Given the description of an element on the screen output the (x, y) to click on. 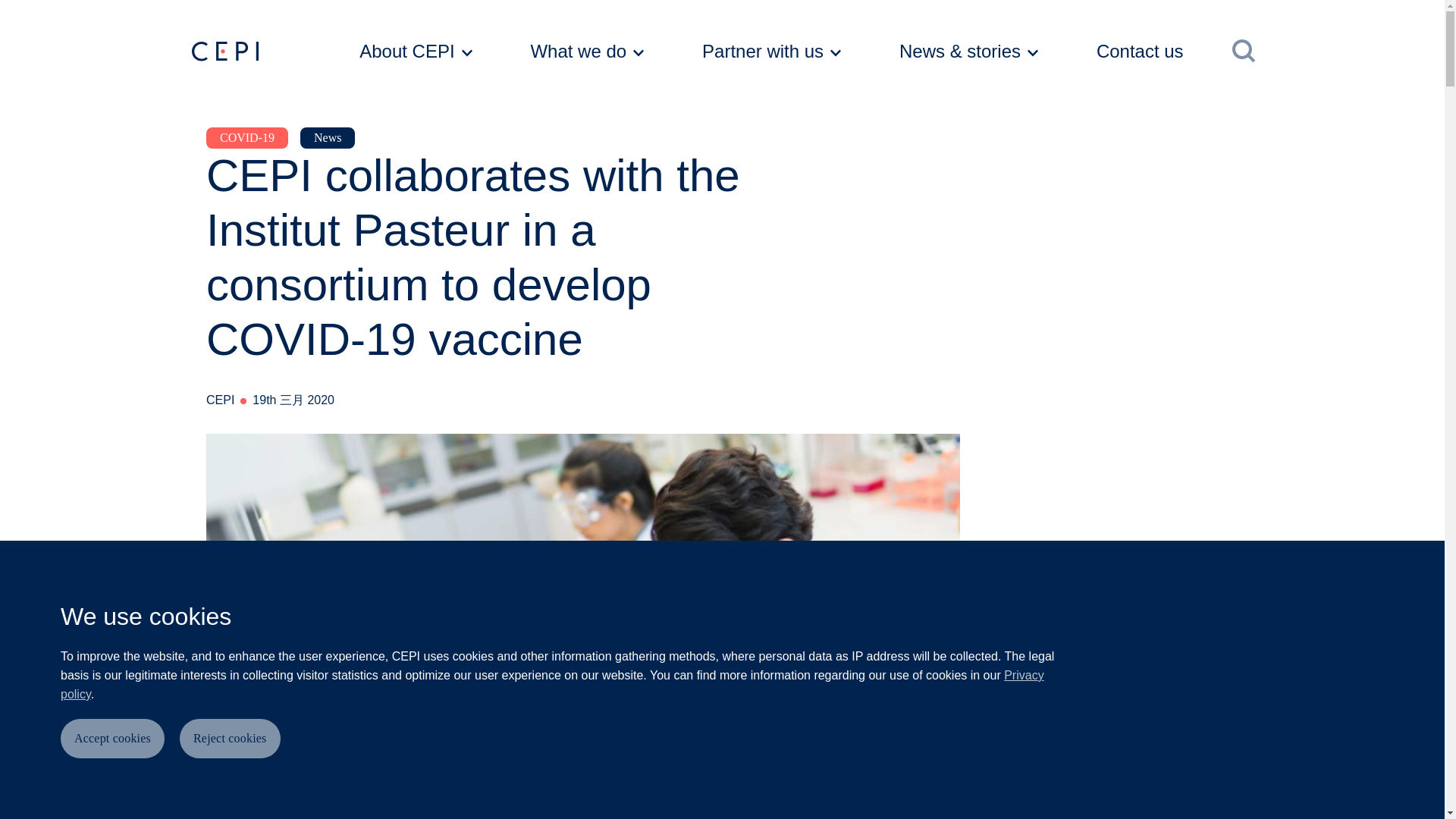
Contact us (1156, 51)
What we do (587, 51)
CEPI (223, 51)
CEPI (265, 51)
About CEPI (415, 51)
Partner with us (771, 51)
